Given the description of an element on the screen output the (x, y) to click on. 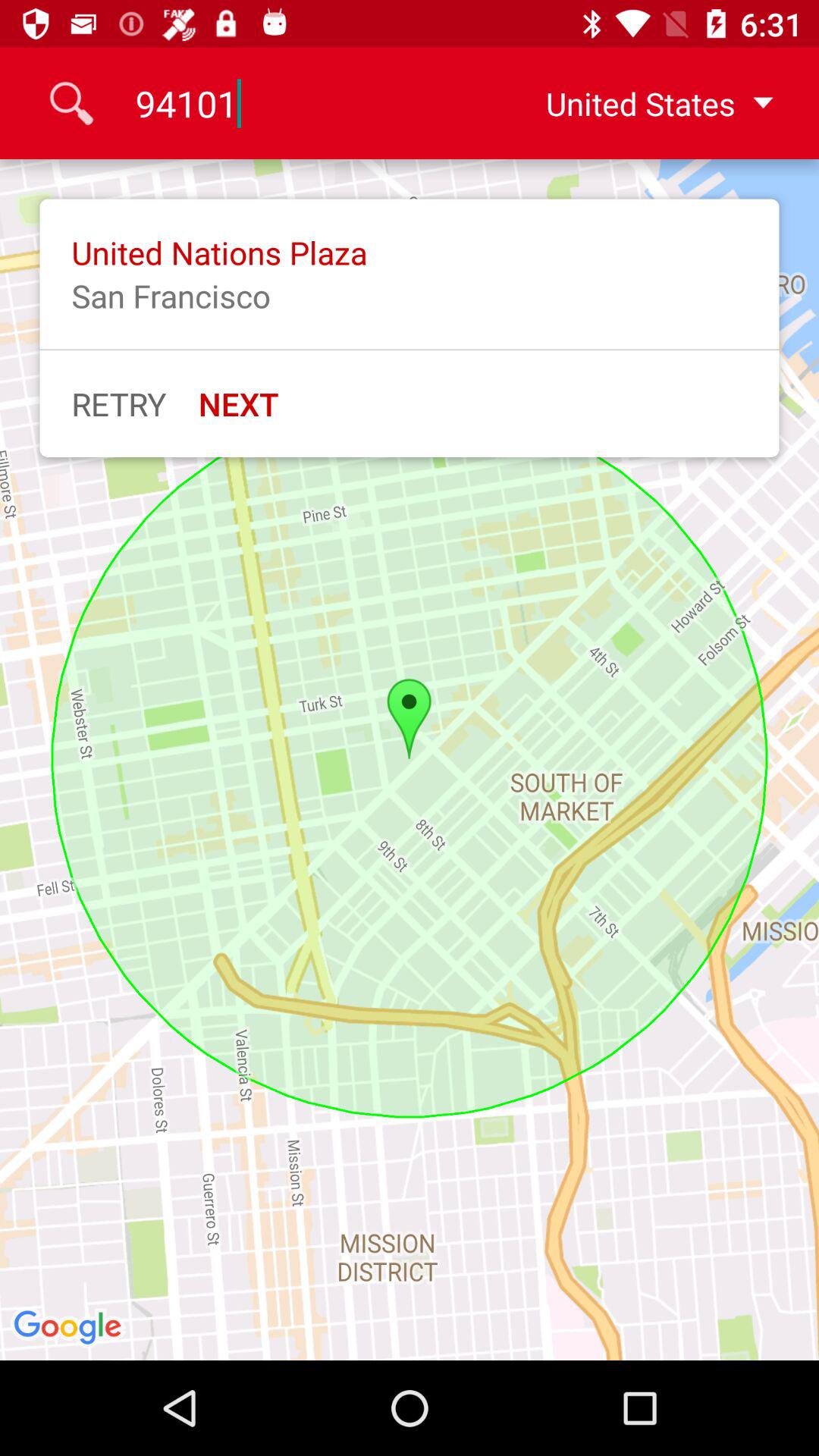
jump until the retry item (118, 403)
